Given the description of an element on the screen output the (x, y) to click on. 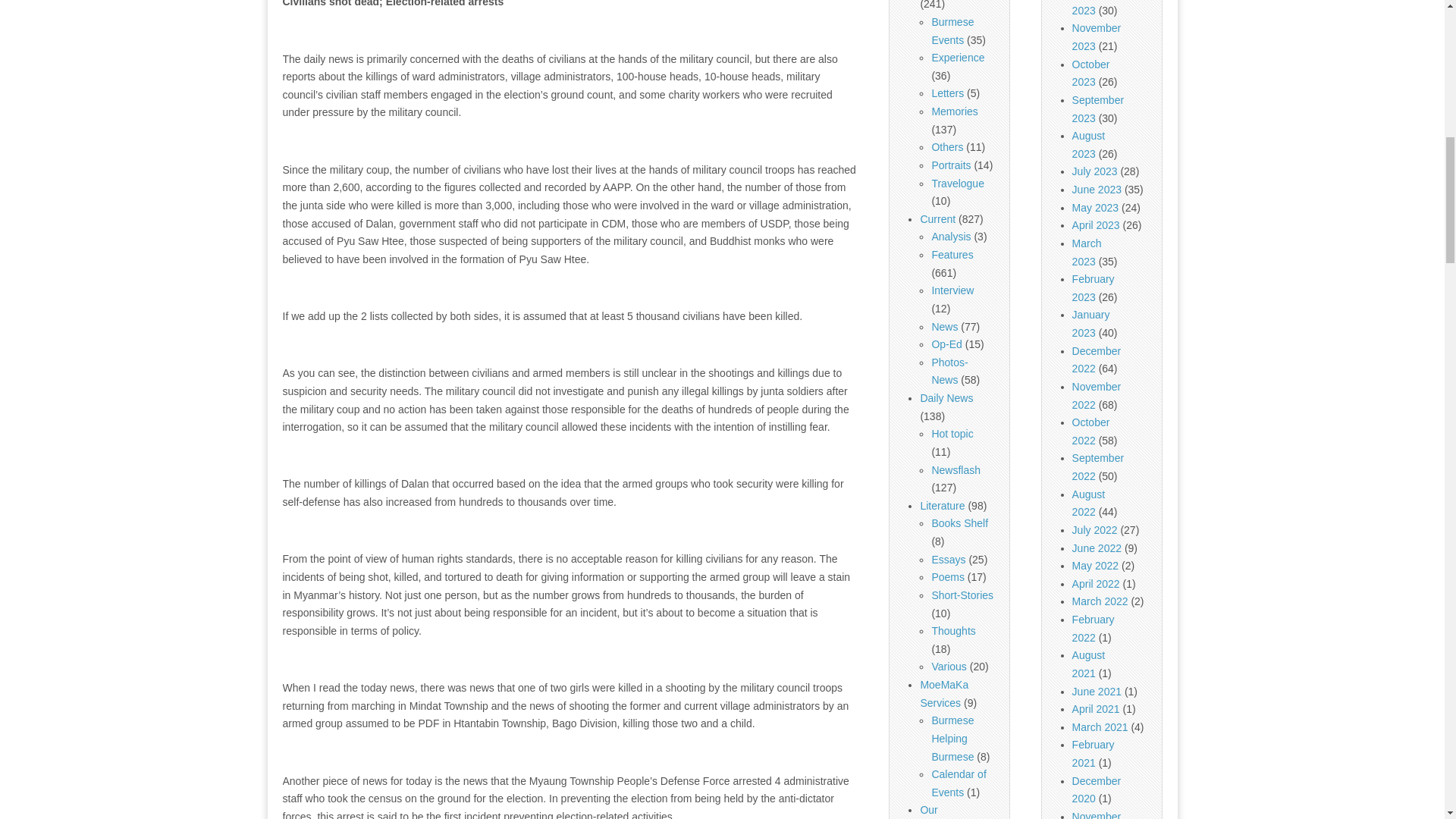
Articles on reflection of the past and things to remember  (953, 111)
The Life and struggle of Burmese in overseas (952, 30)
Portraits of People from their friends and families  (951, 164)
General Articles on Burmese community (946, 146)
Letters from the readers and contributors (947, 92)
